Given the description of an element on the screen output the (x, y) to click on. 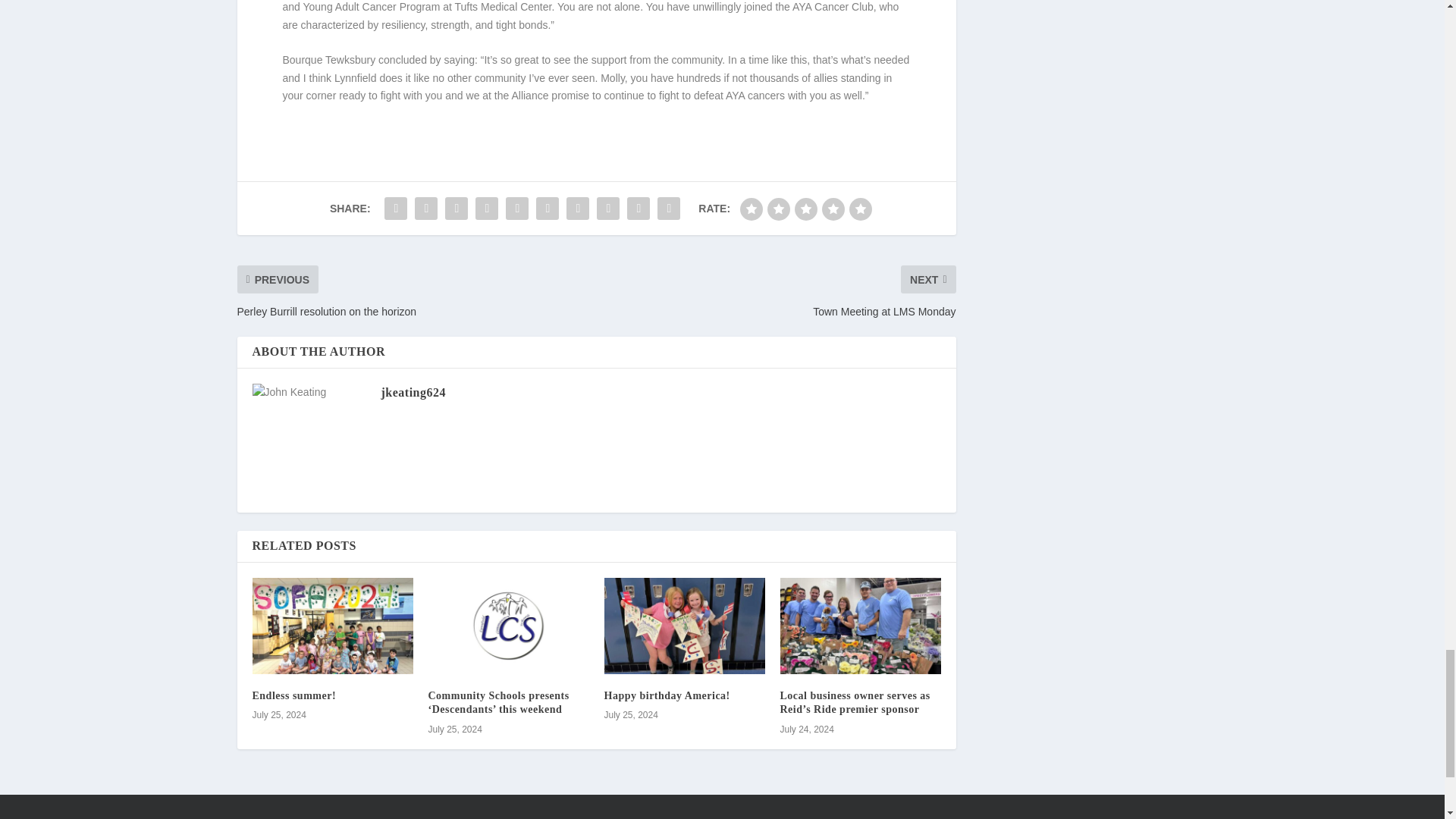
jkeating624 (412, 391)
Endless summer! (293, 695)
